Given the description of an element on the screen output the (x, y) to click on. 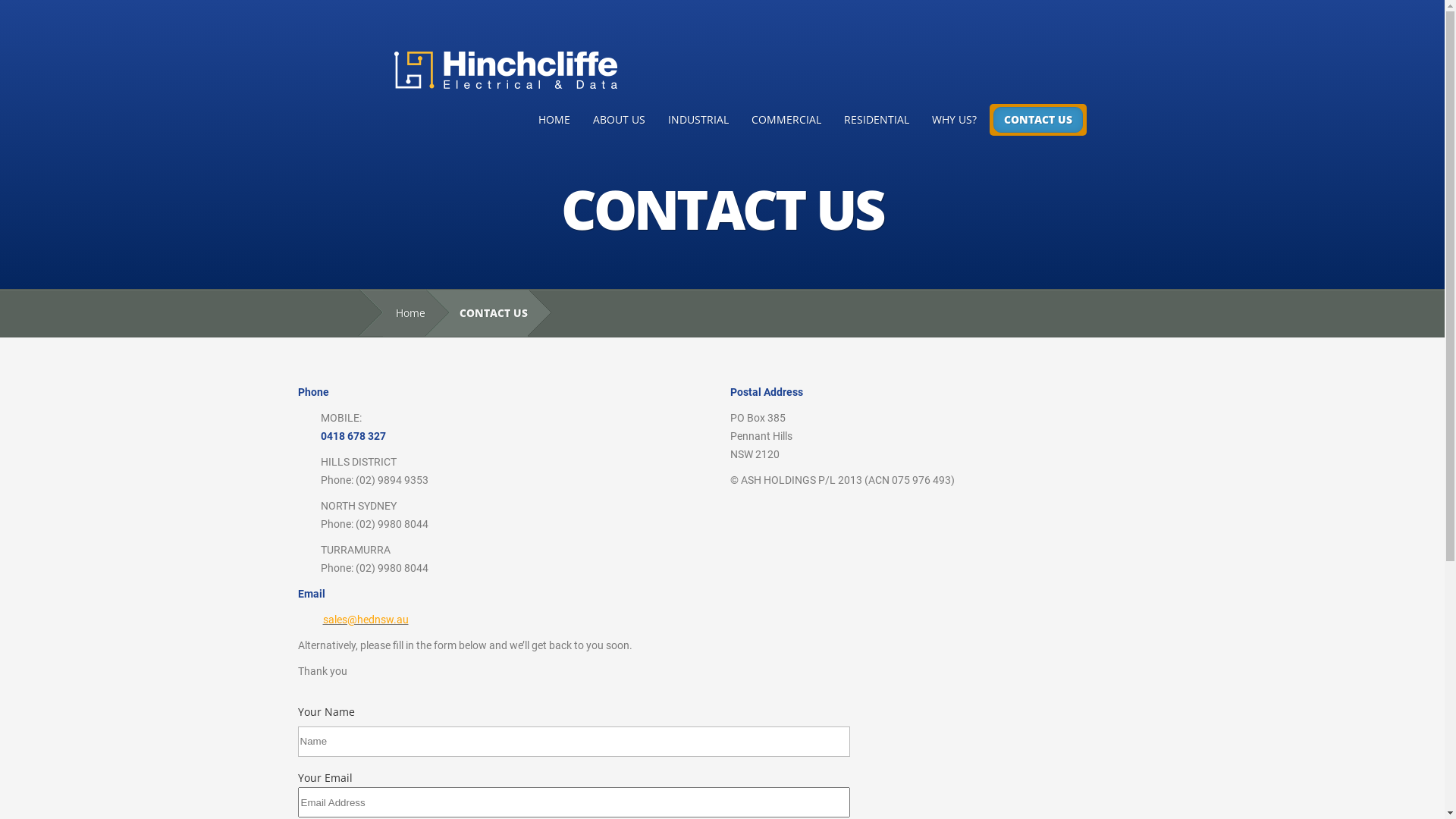
HOME Element type: text (553, 119)
CONTACT US Element type: text (1037, 119)
WHY US? Element type: text (954, 119)
RESIDENTIAL Element type: text (876, 119)
ABOUT US Element type: text (618, 119)
sales@hednsw.au Element type: text (365, 619)
Home Element type: text (403, 313)
COMMERCIAL Element type: text (786, 119)
INDUSTRIAL Element type: text (698, 119)
